Given the description of an element on the screen output the (x, y) to click on. 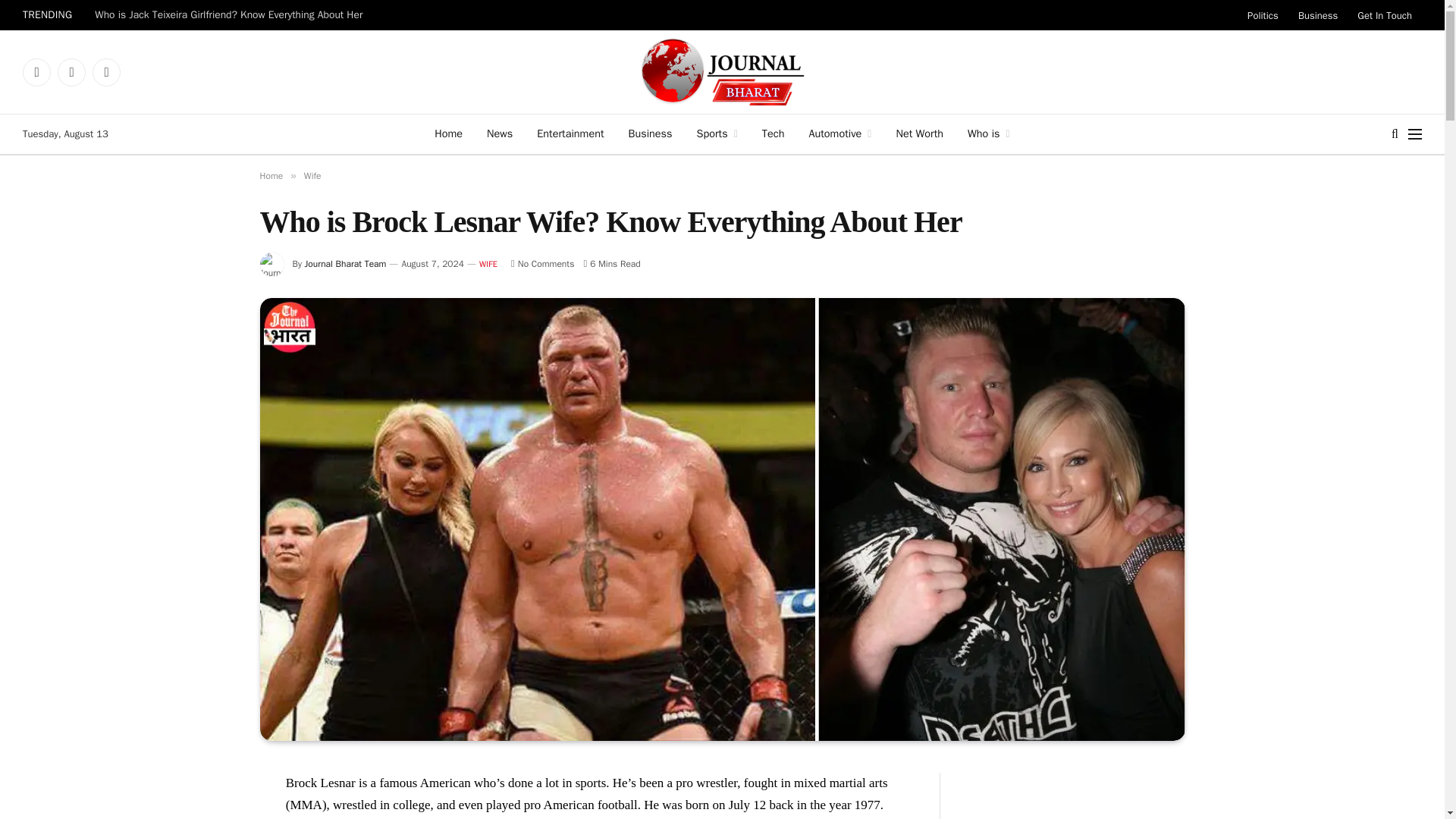
Instagram (106, 71)
News (499, 133)
Home (448, 133)
Get In Touch (1385, 15)
Entertainment (569, 133)
Tech (772, 133)
Facebook (36, 71)
Politics (1262, 15)
Automotive (839, 133)
The Journal Bharat (722, 71)
